Given the description of an element on the screen output the (x, y) to click on. 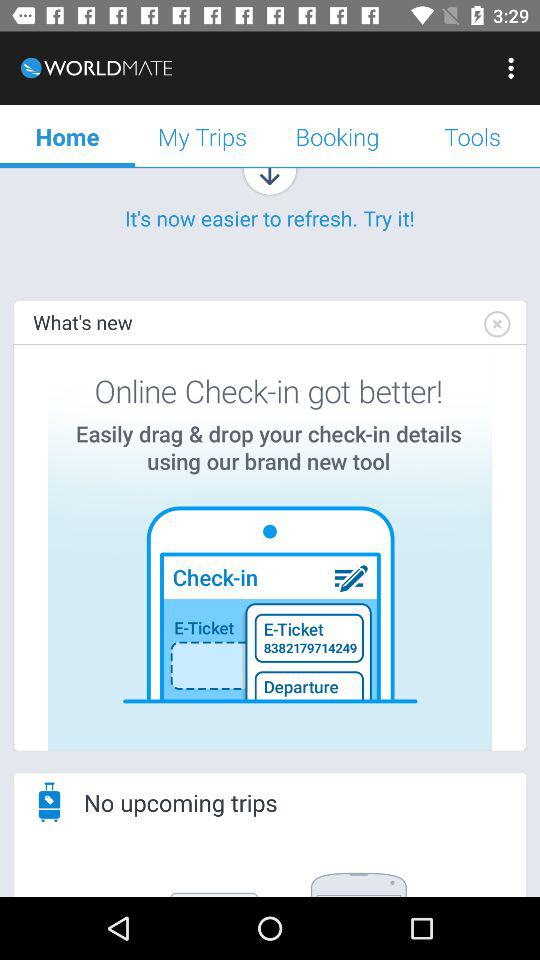
view information about update (269, 547)
